Given the description of an element on the screen output the (x, y) to click on. 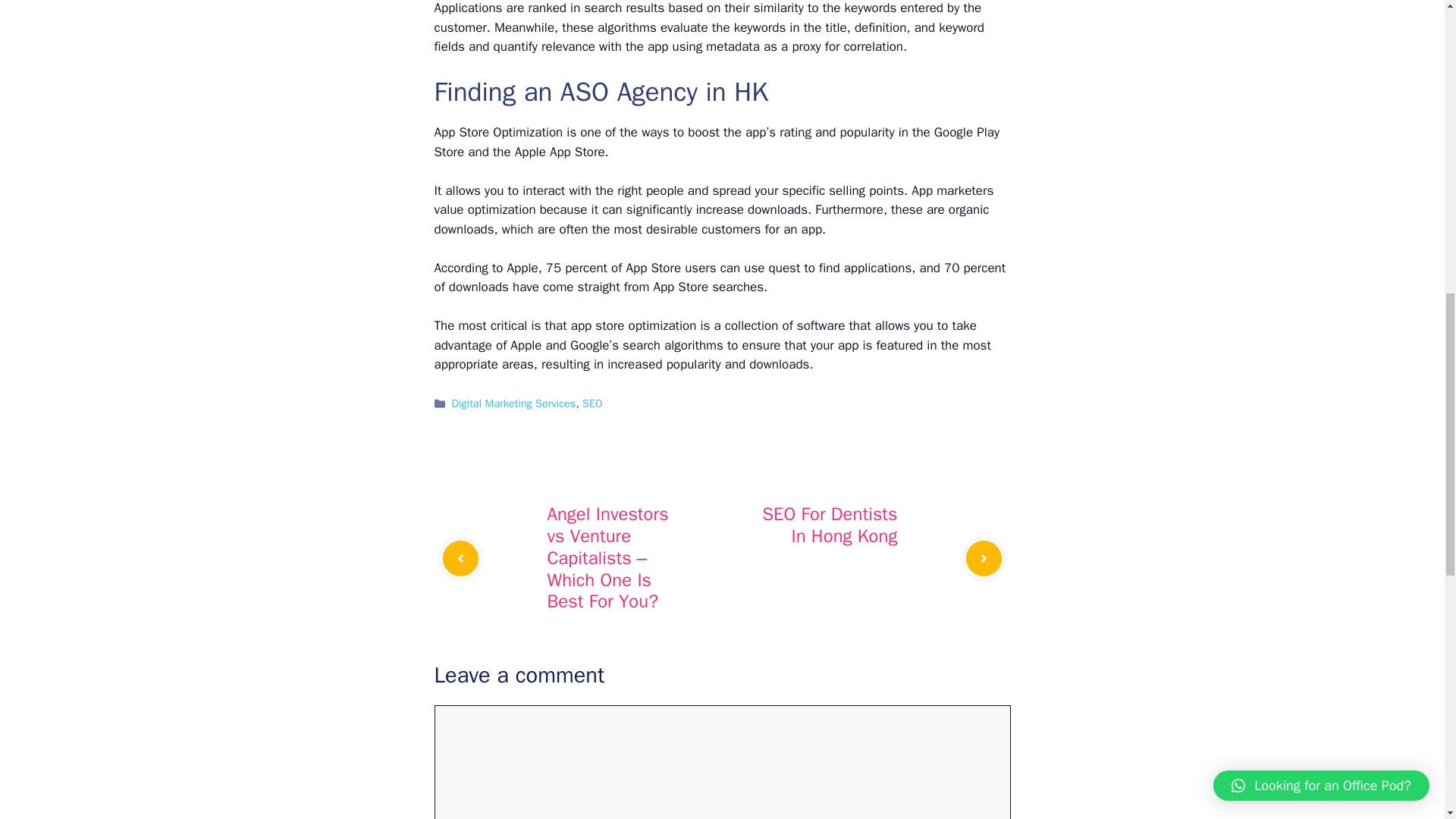
Scroll back to top (1406, 652)
SEO (592, 403)
Digital Marketing Services (513, 403)
SEO For Dentists In Hong Kong (828, 524)
